Given the description of an element on the screen output the (x, y) to click on. 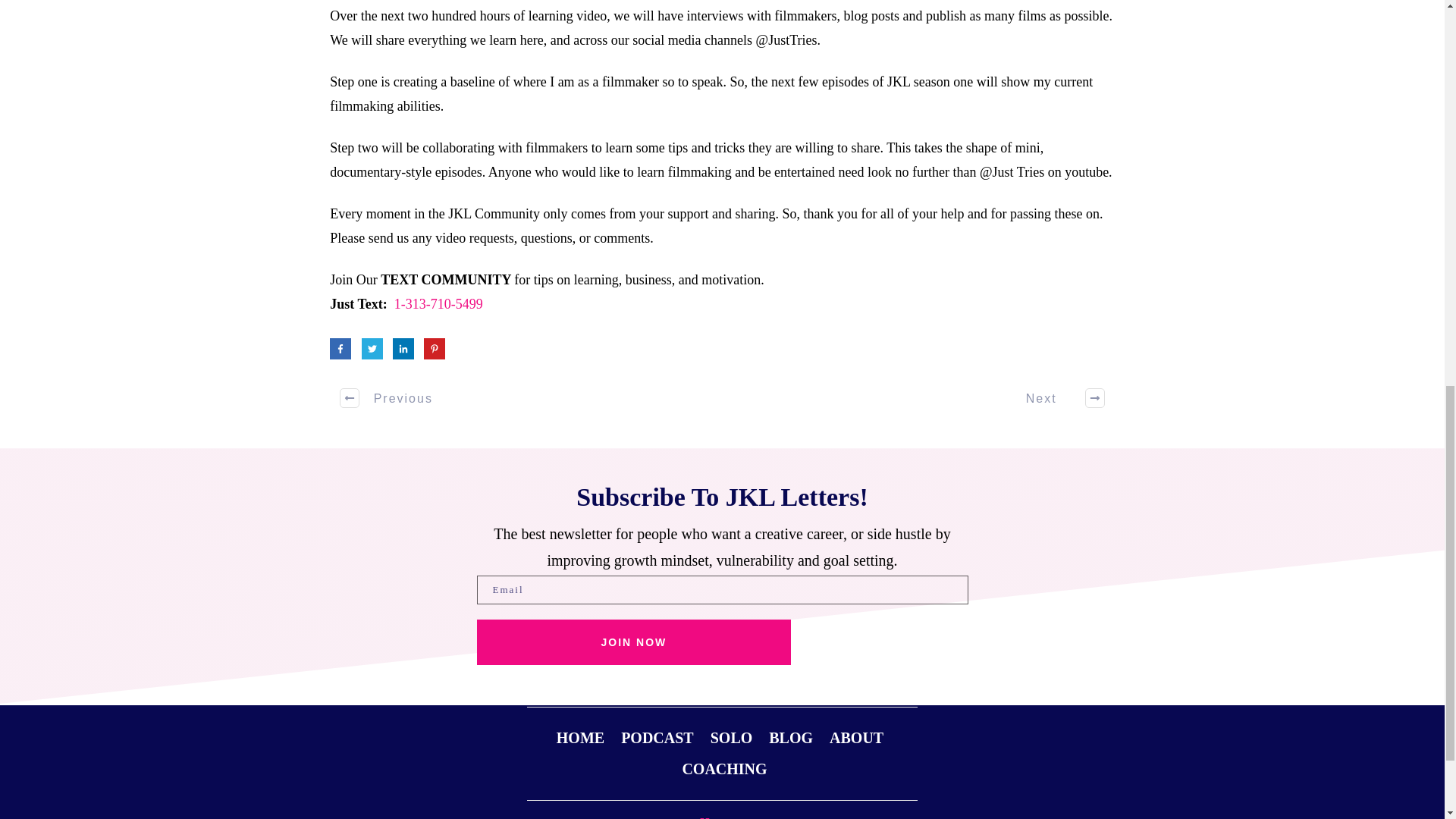
Next (1056, 397)
JOIN NOW (633, 642)
BLOG (790, 737)
COACHING (724, 768)
1-313-710-5499 (438, 304)
Previous (387, 397)
ABOUT (856, 737)
SOLO (731, 737)
PODCAST (657, 737)
HOME (580, 737)
